Given the description of an element on the screen output the (x, y) to click on. 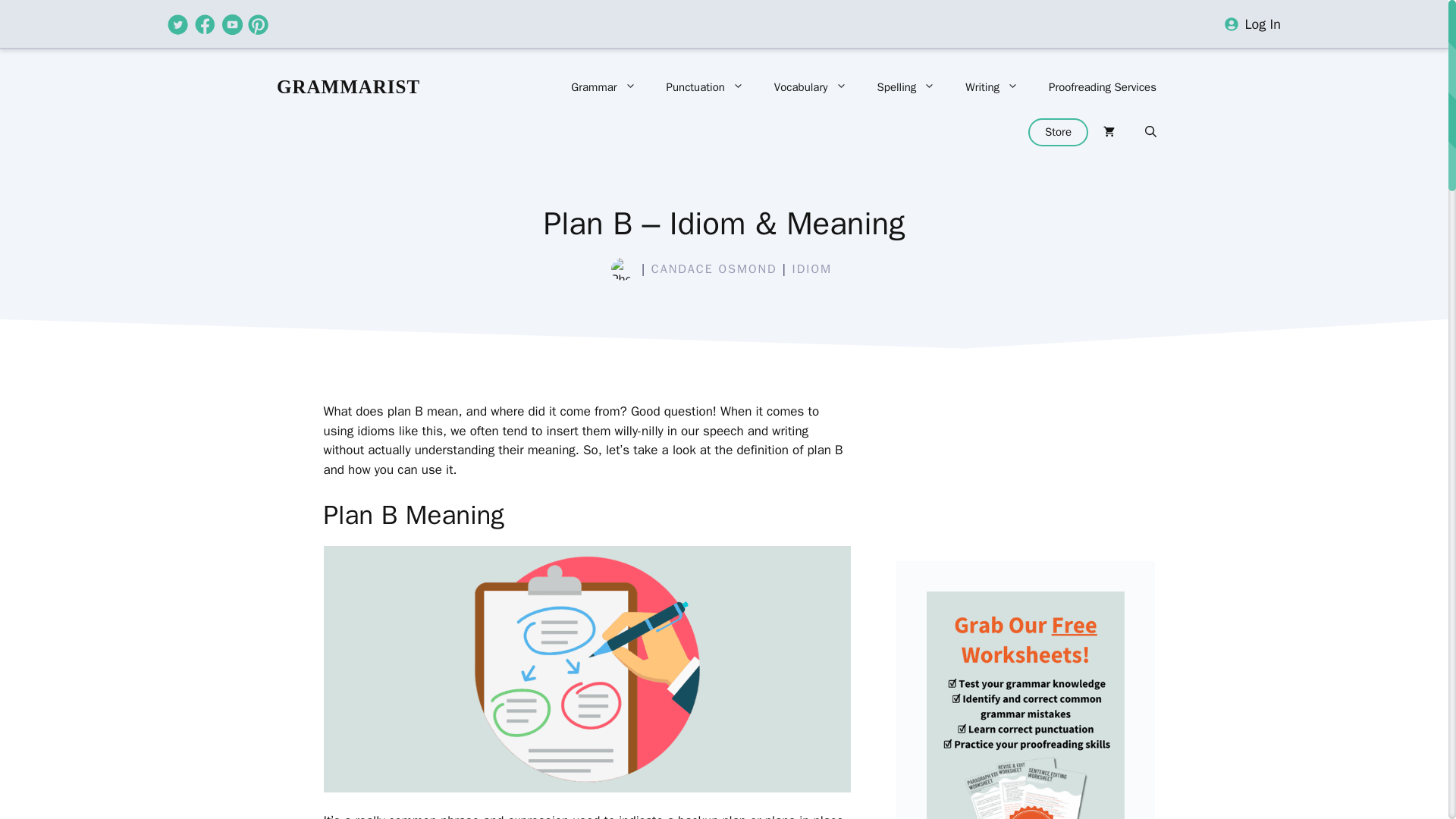
Punctuation (704, 86)
Grammar (603, 86)
Vocabulary (809, 86)
Log In (1262, 23)
GRAMMARIST (348, 86)
View your shopping cart (1108, 132)
